Given the description of an element on the screen output the (x, y) to click on. 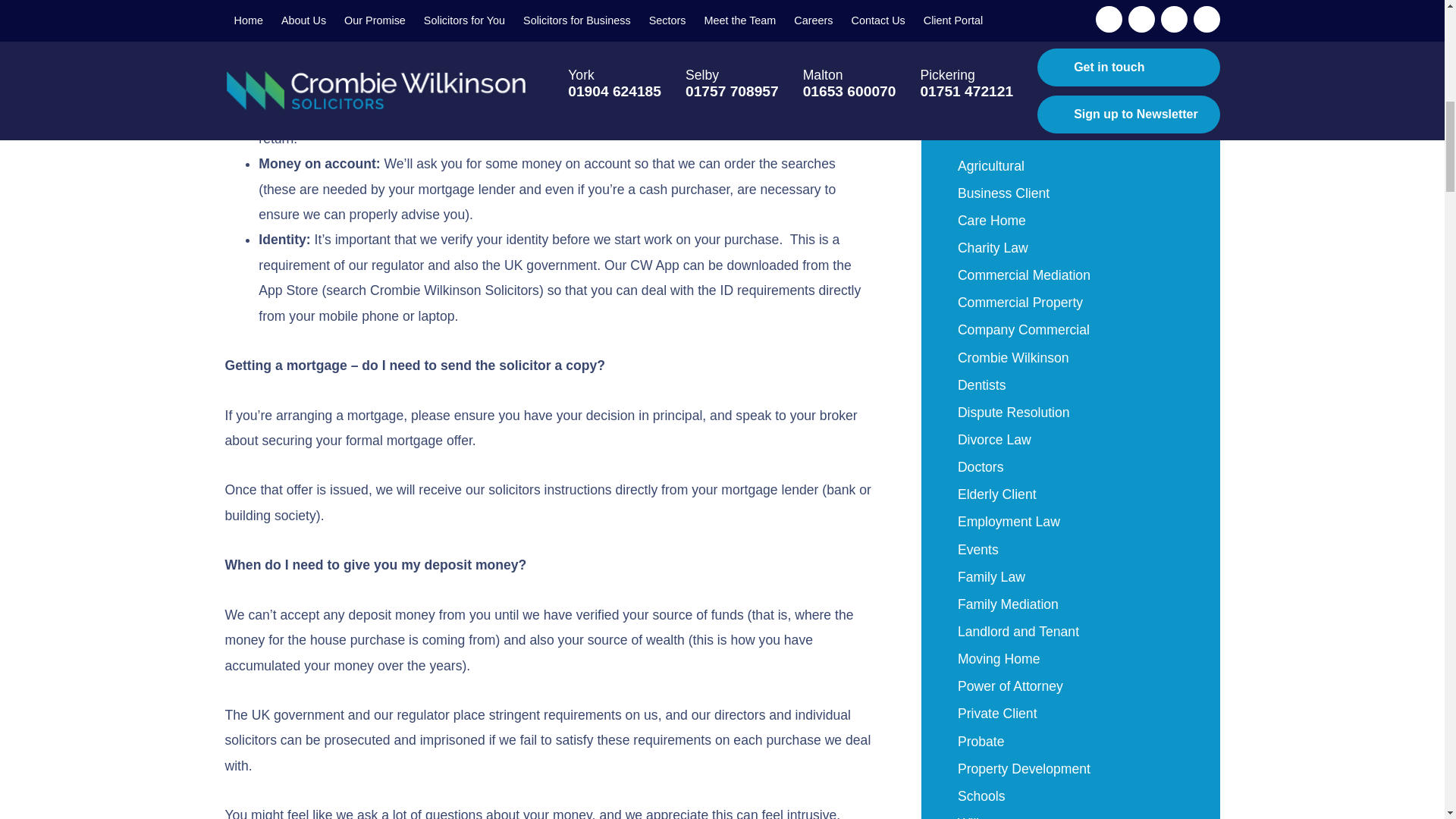
Send form (1070, 28)
